Given the description of an element on the screen output the (x, y) to click on. 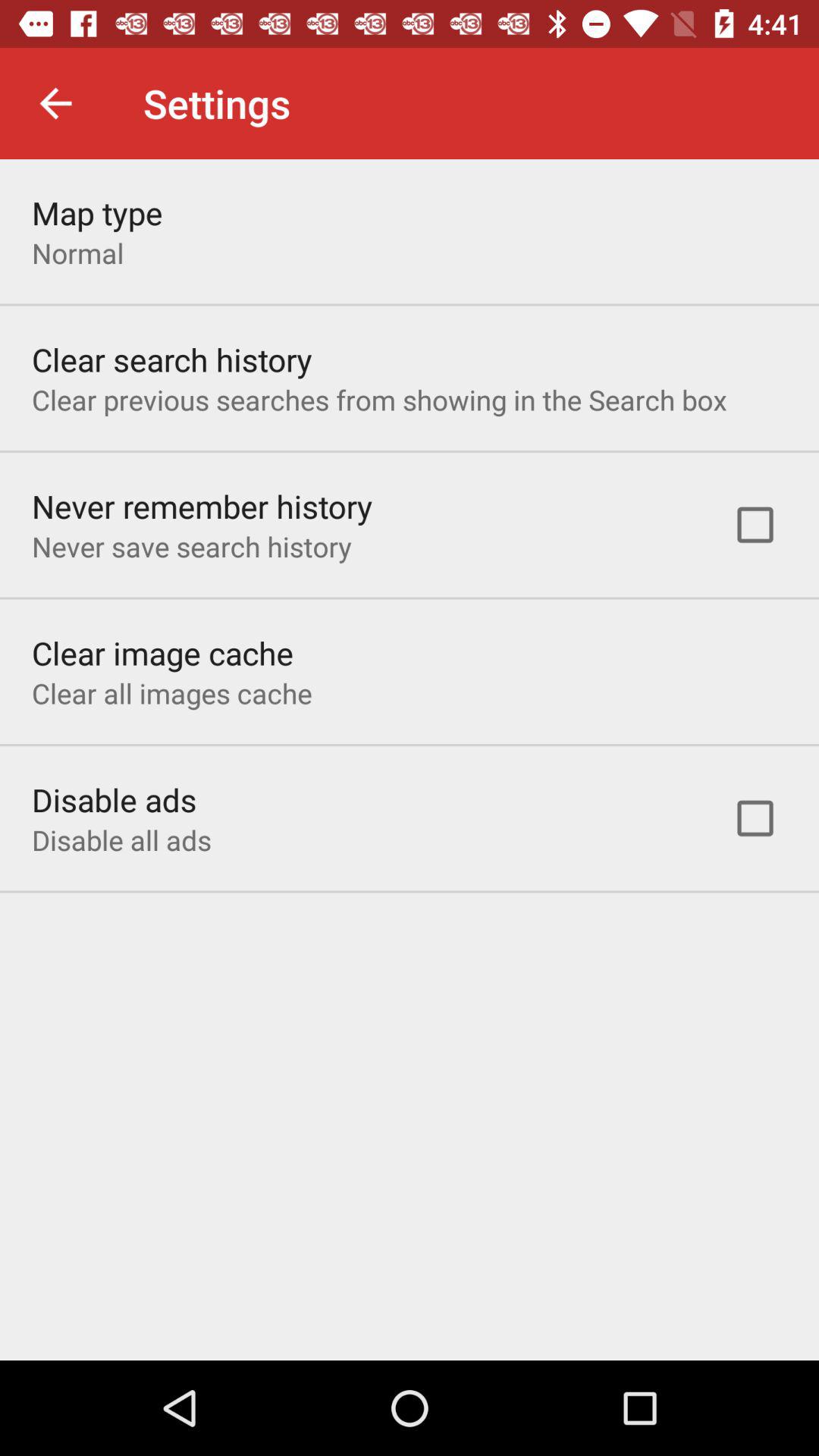
tap item above the normal icon (96, 212)
